Given the description of an element on the screen output the (x, y) to click on. 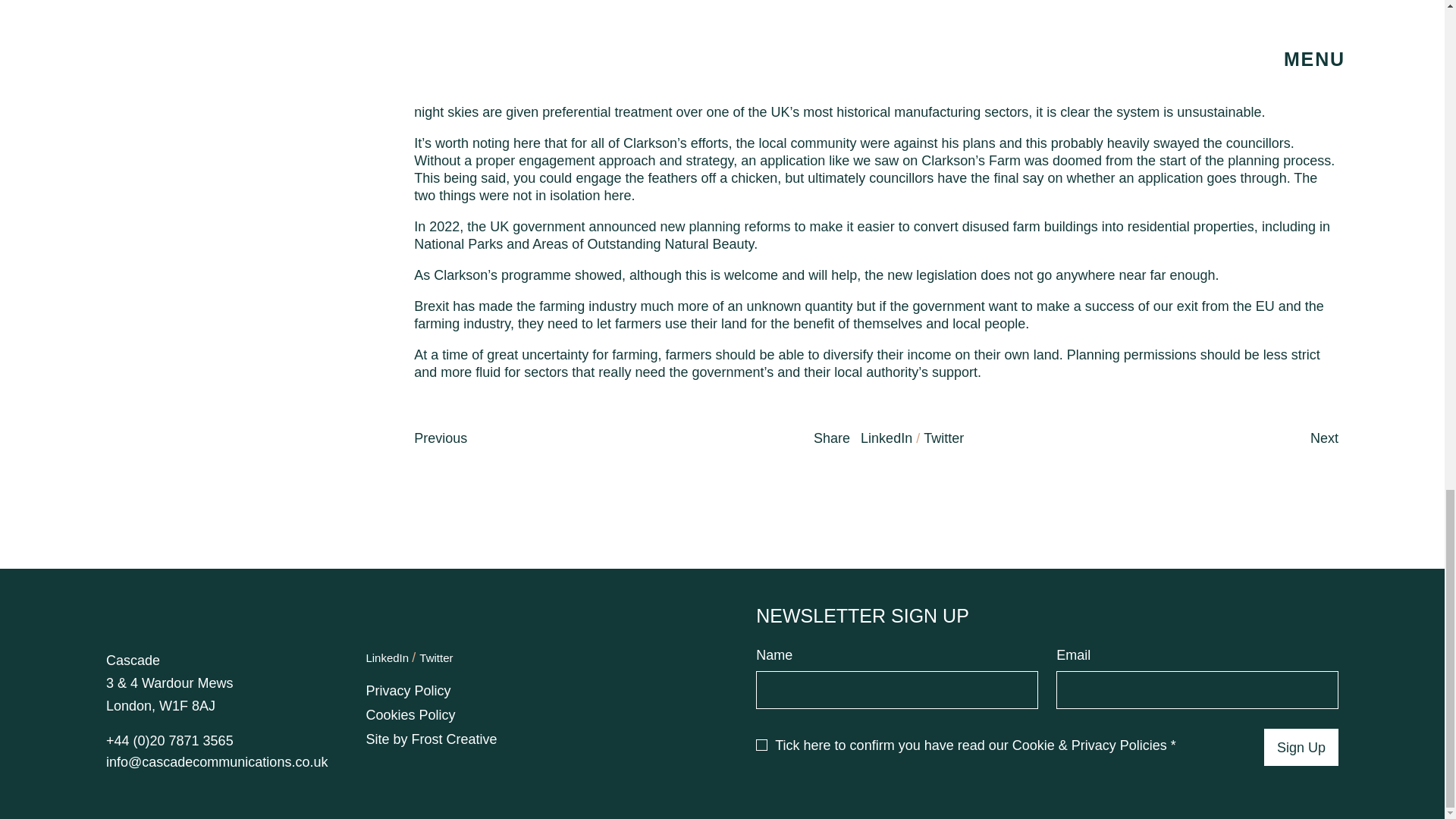
LinkedIn (886, 437)
Sign Up (1300, 747)
LinkedIn (388, 657)
Site by Frost Creative (430, 739)
JOIN US (727, 103)
Next (1324, 438)
Previous (440, 438)
Twitter (943, 437)
CONTACT US (727, 185)
Cookies Policy (409, 714)
Privacy Policy (407, 690)
NEWS STREAM (727, 24)
Twitter (435, 657)
